Given the description of an element on the screen output the (x, y) to click on. 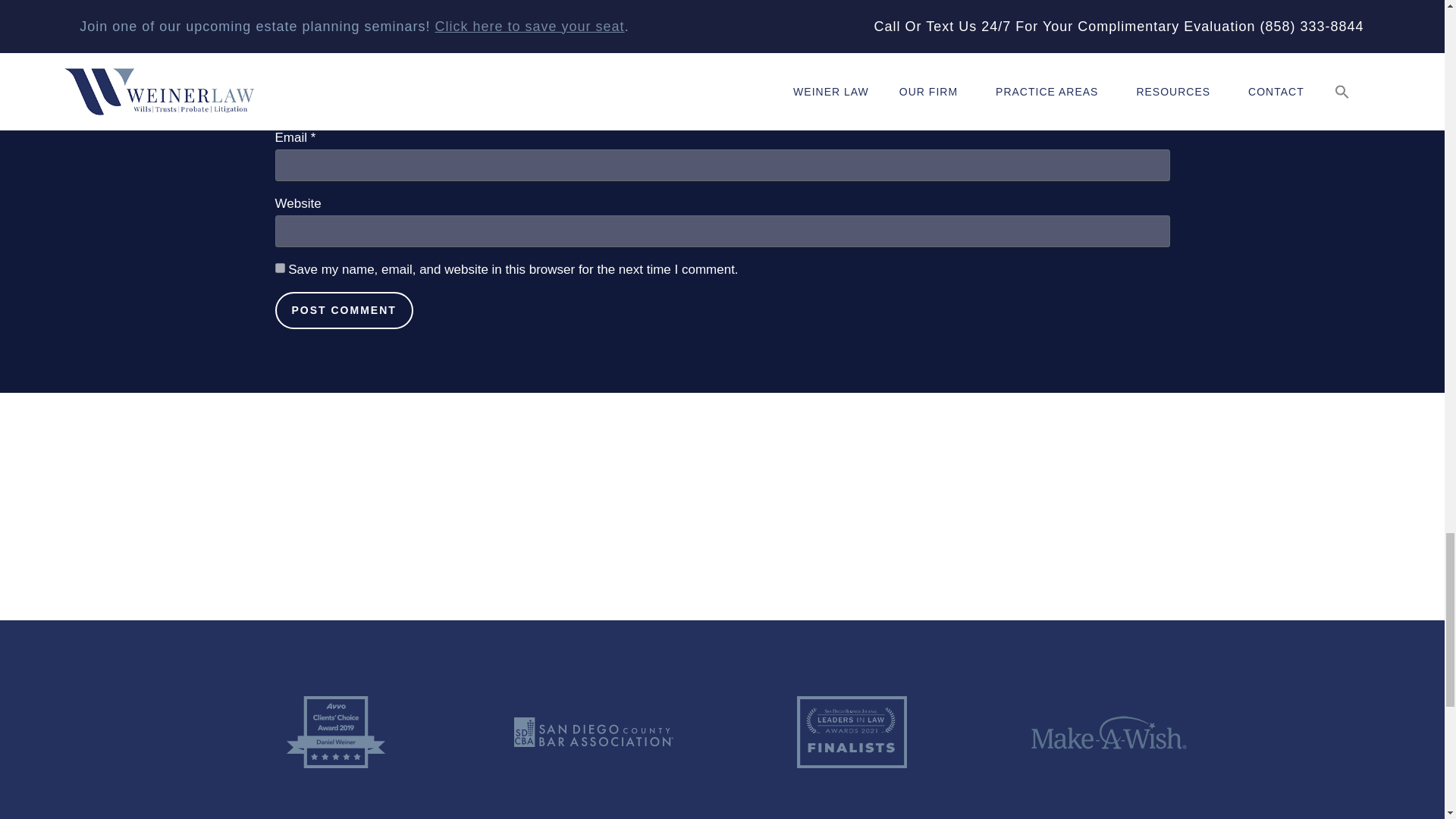
Post Comment (343, 310)
yes (279, 267)
